Given the description of an element on the screen output the (x, y) to click on. 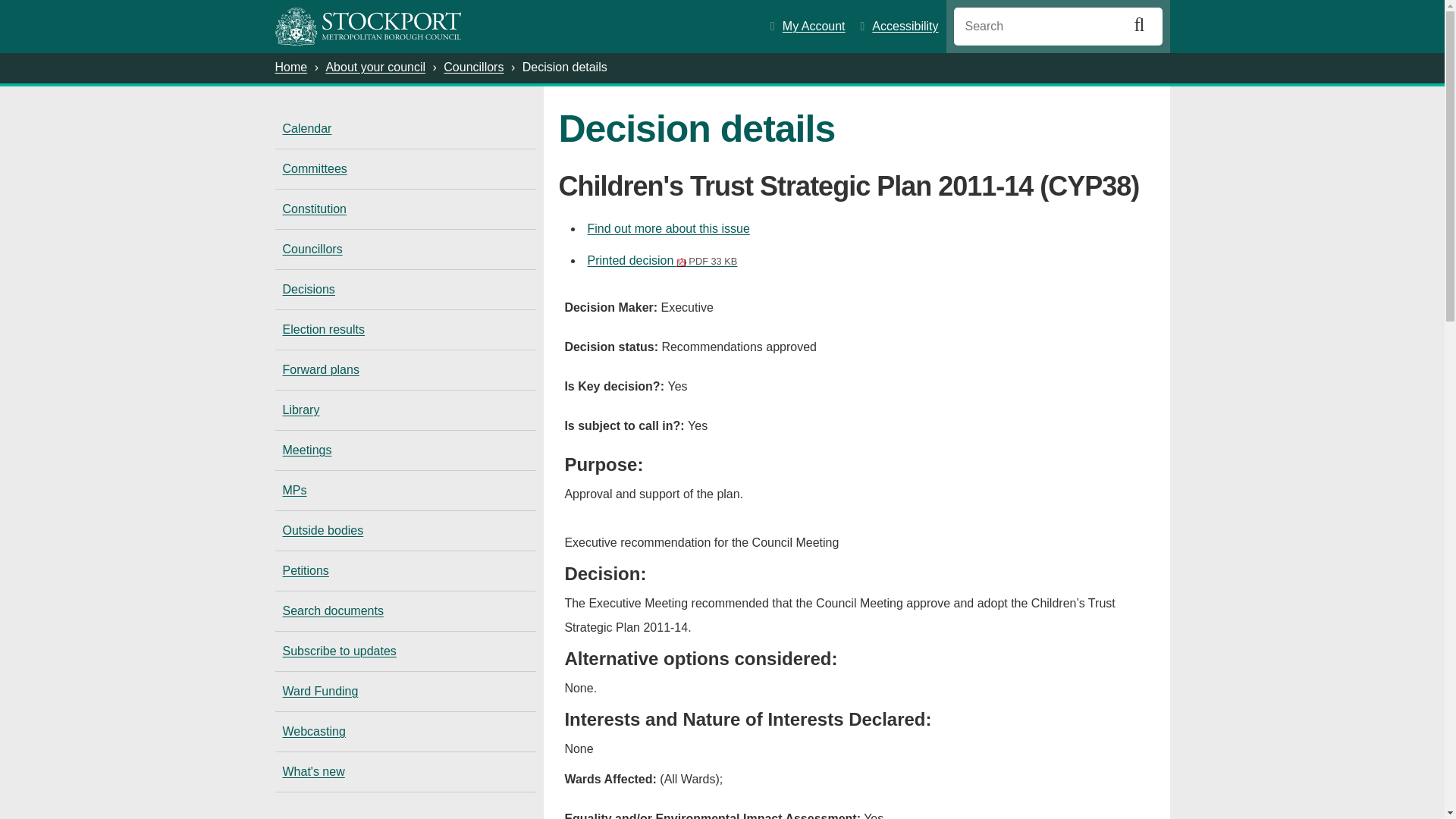
Election results (405, 329)
Link to the Constitution (405, 209)
Link to information about committee meetings (405, 450)
Petitions (405, 570)
Link to committee structure (405, 169)
Subscribe to updates (405, 650)
Link to register of decisions (405, 289)
About your council (374, 66)
Link to Subscribe to Updates (405, 650)
Link to Forward Plans (405, 369)
Link to library of standard documents (405, 409)
Webcasting (405, 731)
Skip to main content (26, 13)
Library (405, 409)
Link to Outside Bodies (405, 530)
